Given the description of an element on the screen output the (x, y) to click on. 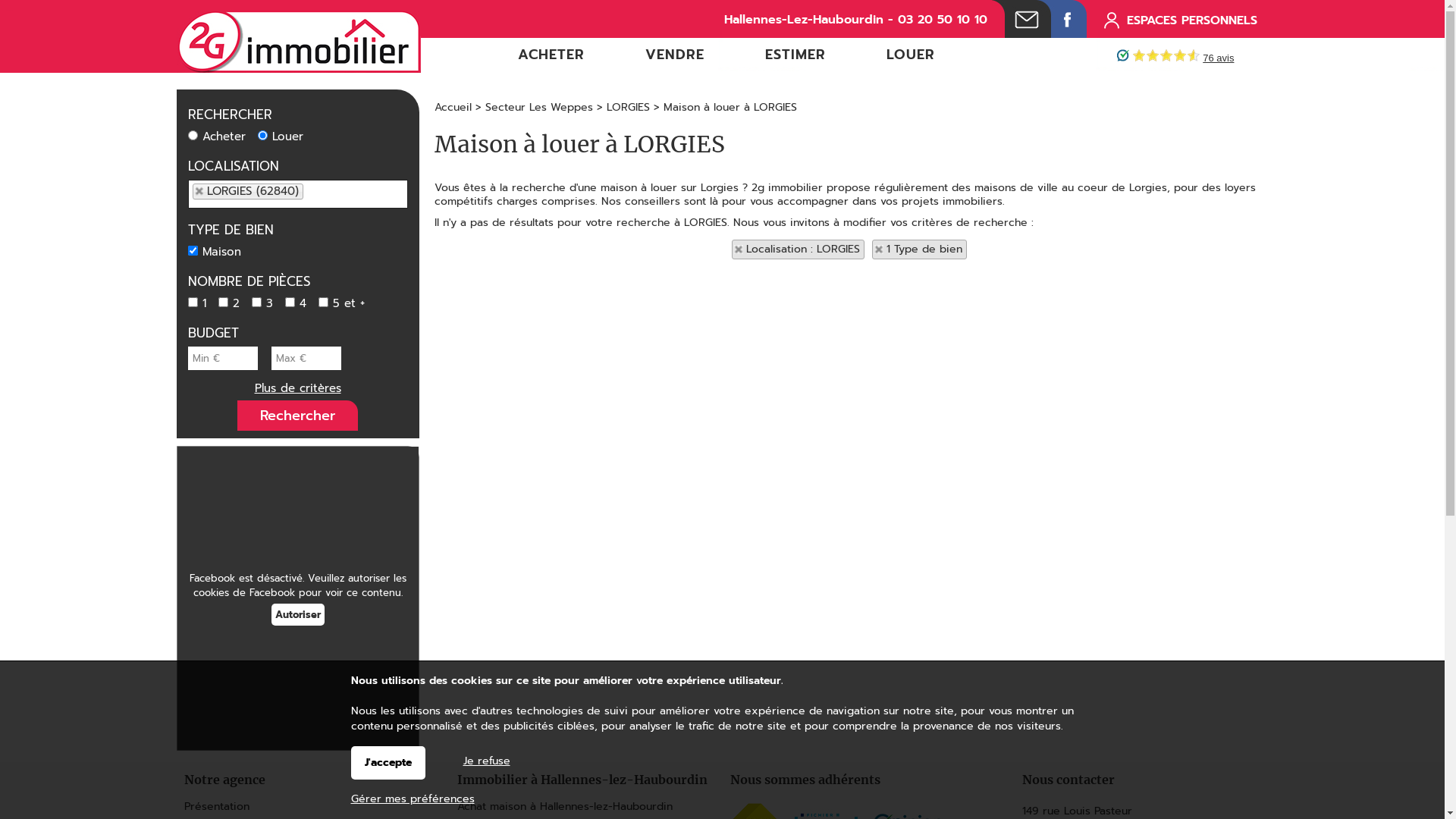
Accueil Element type: text (451, 107)
Autoriser Element type: text (297, 614)
Localisation : LORGIES Element type: text (797, 249)
ESPACES PERSONNELS Element type: text (1183, 20)
Je refuse Element type: text (485, 757)
LOUER Element type: text (909, 54)
iframeopinionsystem Element type: hover (1191, 58)
Notre agence Element type: text (312, 779)
ESTIMER Element type: text (794, 54)
VENDRE Element type: text (674, 54)
J'accepte Element type: text (387, 762)
Rechercher Element type: text (297, 415)
Secteur Les Weppes Element type: text (539, 107)
ACHETER Element type: text (550, 54)
1 Type de bien Element type: text (919, 249)
LORGIES Element type: text (627, 107)
Hallennes-Lez-Haubourdin - 03 20 50 10 10 Element type: text (854, 19)
